Given the description of an element on the screen output the (x, y) to click on. 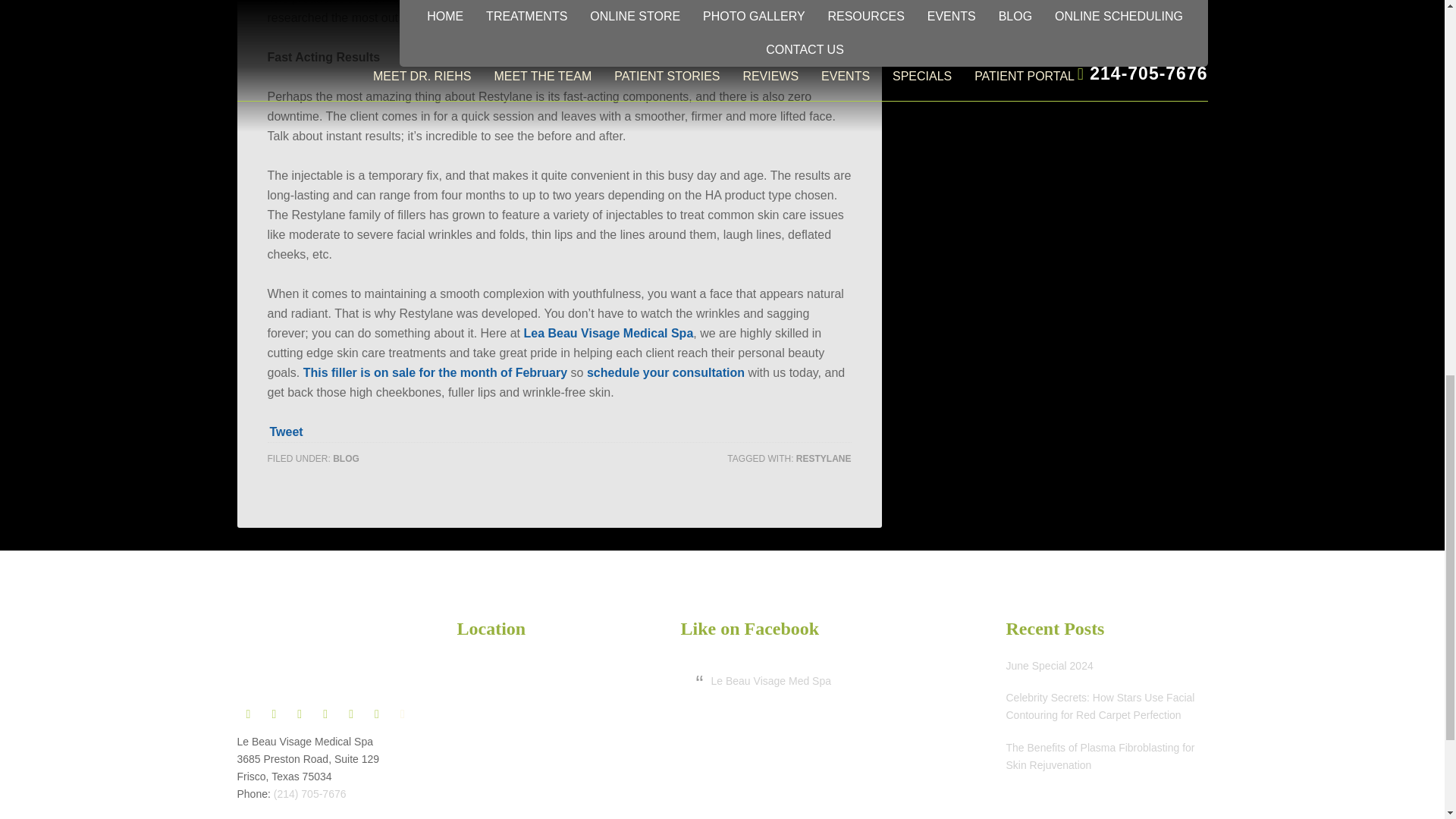
Subscribe Now (1064, 15)
